Given the description of an element on the screen output the (x, y) to click on. 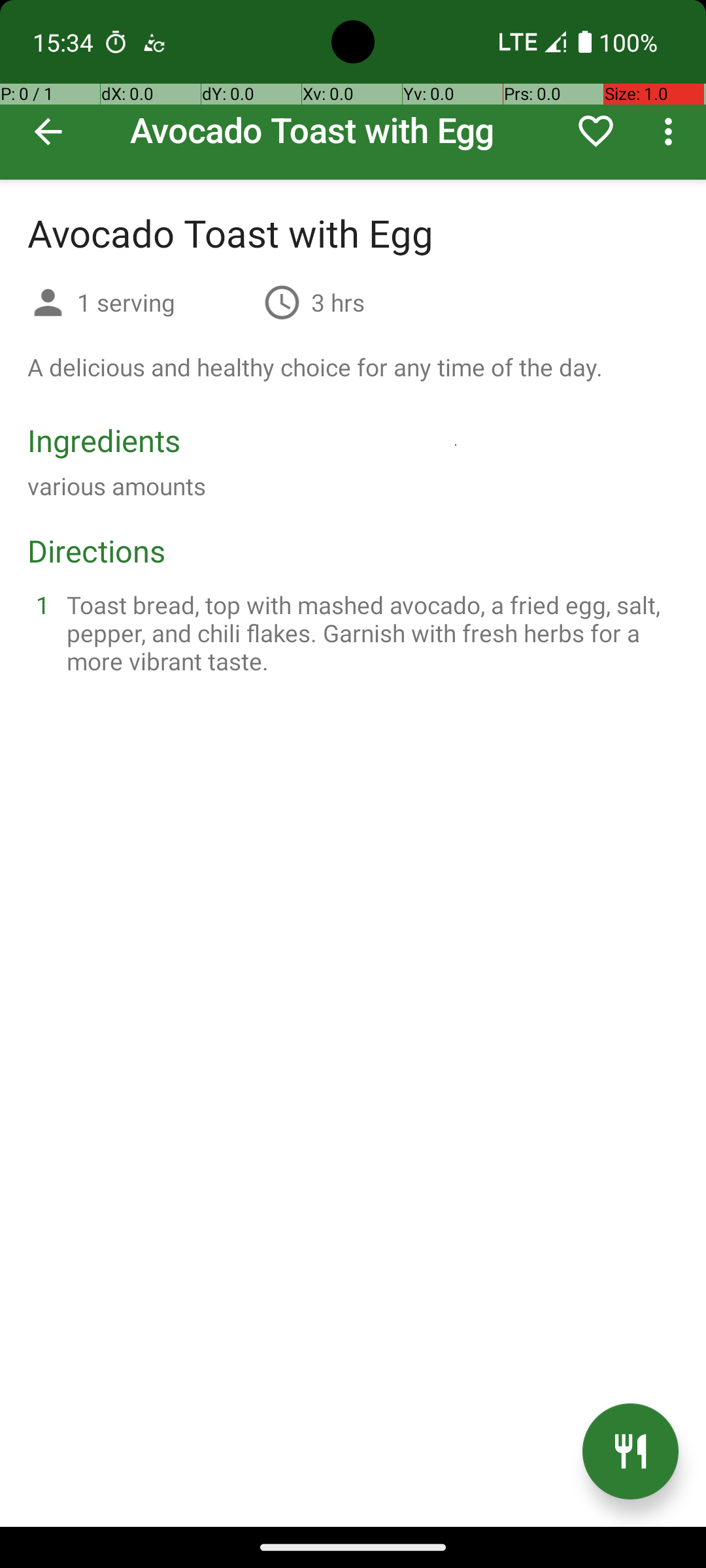
Toast bread, top with mashed avocado, a fried egg, salt, pepper, and chili flakes. Garnish with fresh herbs for a more vibrant taste. Element type: android.widget.TextView (368, 632)
